Given the description of an element on the screen output the (x, y) to click on. 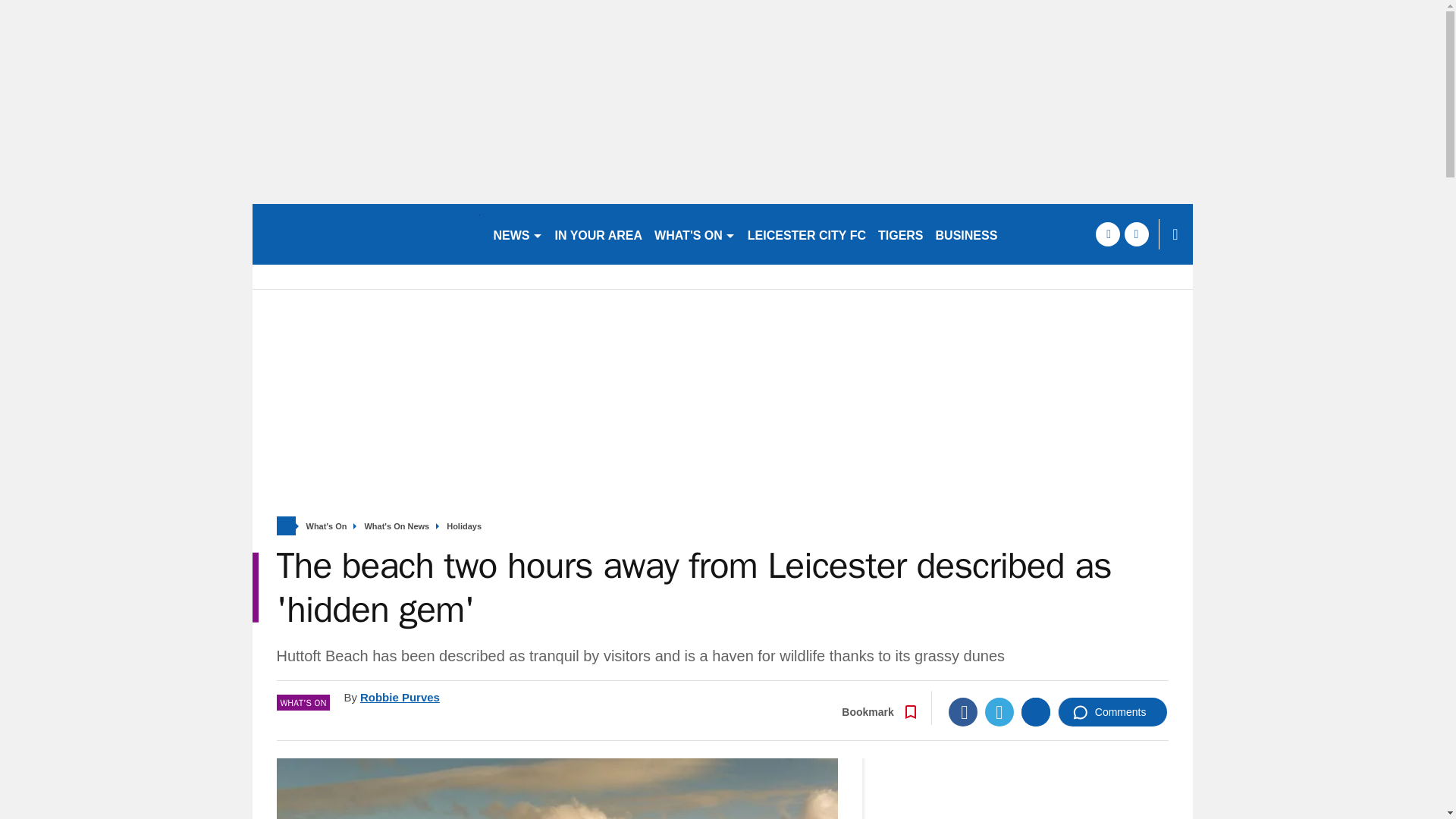
WHAT'S ON (694, 233)
facebook (1106, 233)
TIGERS (901, 233)
BUSINESS (967, 233)
IN YOUR AREA (598, 233)
LEICESTER CITY FC (806, 233)
NEWS (517, 233)
leicestermercury (365, 233)
twitter (1136, 233)
Twitter (999, 711)
